Given the description of an element on the screen output the (x, y) to click on. 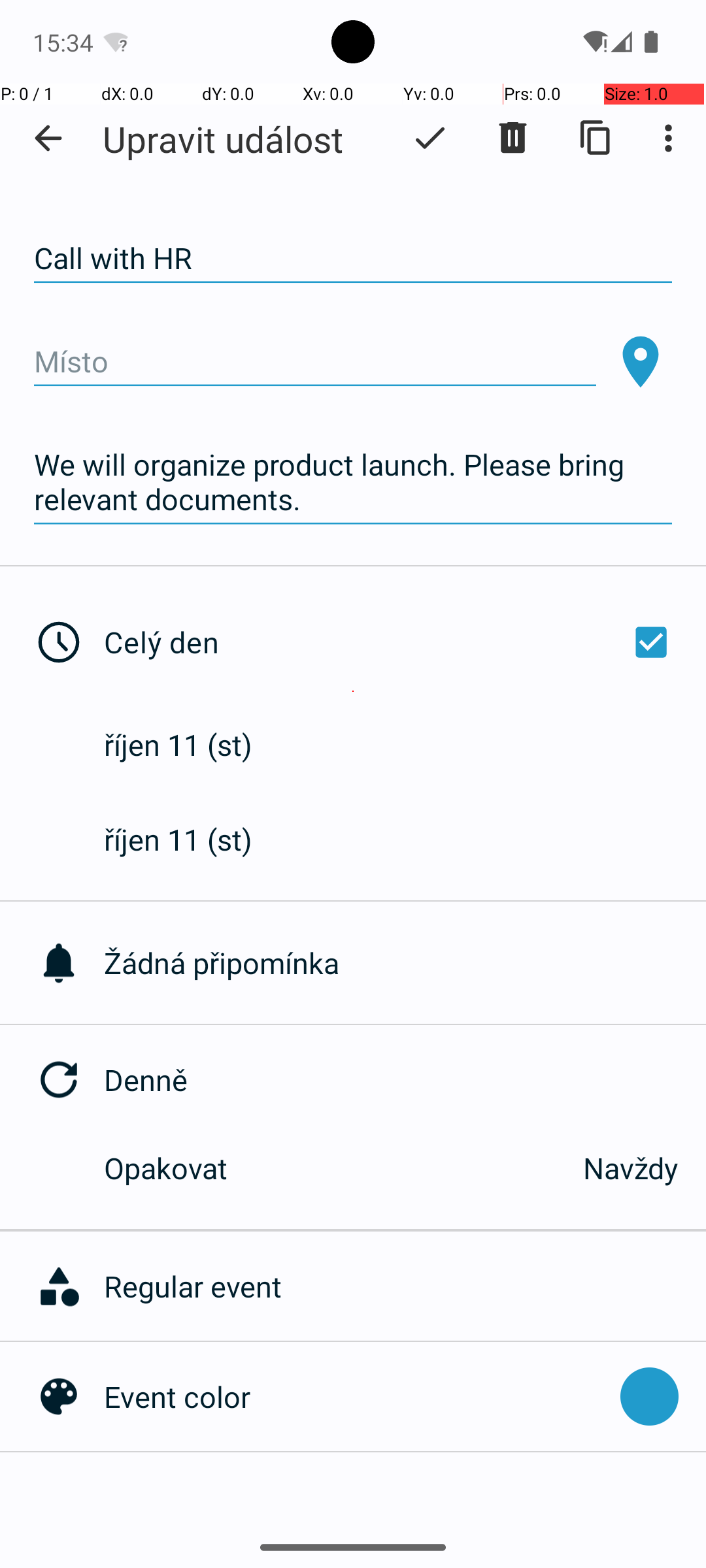
Upravit událost Element type: android.widget.TextView (222, 138)
Smazat Element type: android.widget.Button (512, 137)
Zkopírovat událost Element type: android.widget.Button (595, 137)
Místo Element type: android.widget.EditText (314, 361)
We will organize product launch. Please bring relevant documents. Element type: android.widget.EditText (352, 482)
říjen 11 (st) Element type: android.widget.TextView (191, 744)
Žádná připomínka Element type: android.widget.TextView (404, 962)
Denně Element type: android.widget.TextView (404, 1079)
Opakovat Element type: android.widget.TextView (329, 1167)
Navždy Element type: android.widget.TextView (630, 1167)
